Given the description of an element on the screen output the (x, y) to click on. 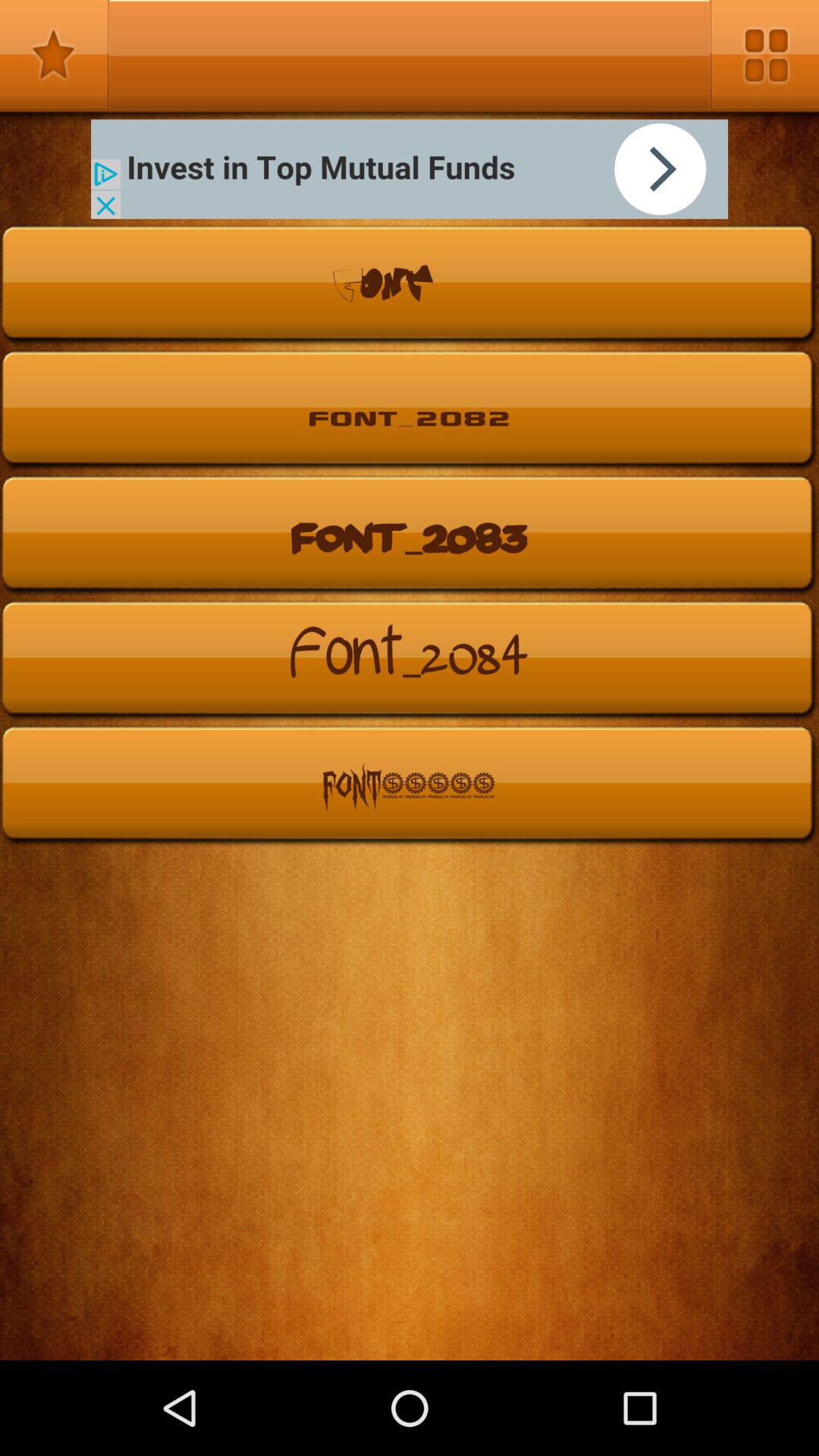
tap advertisement (409, 168)
